Given the description of an element on the screen output the (x, y) to click on. 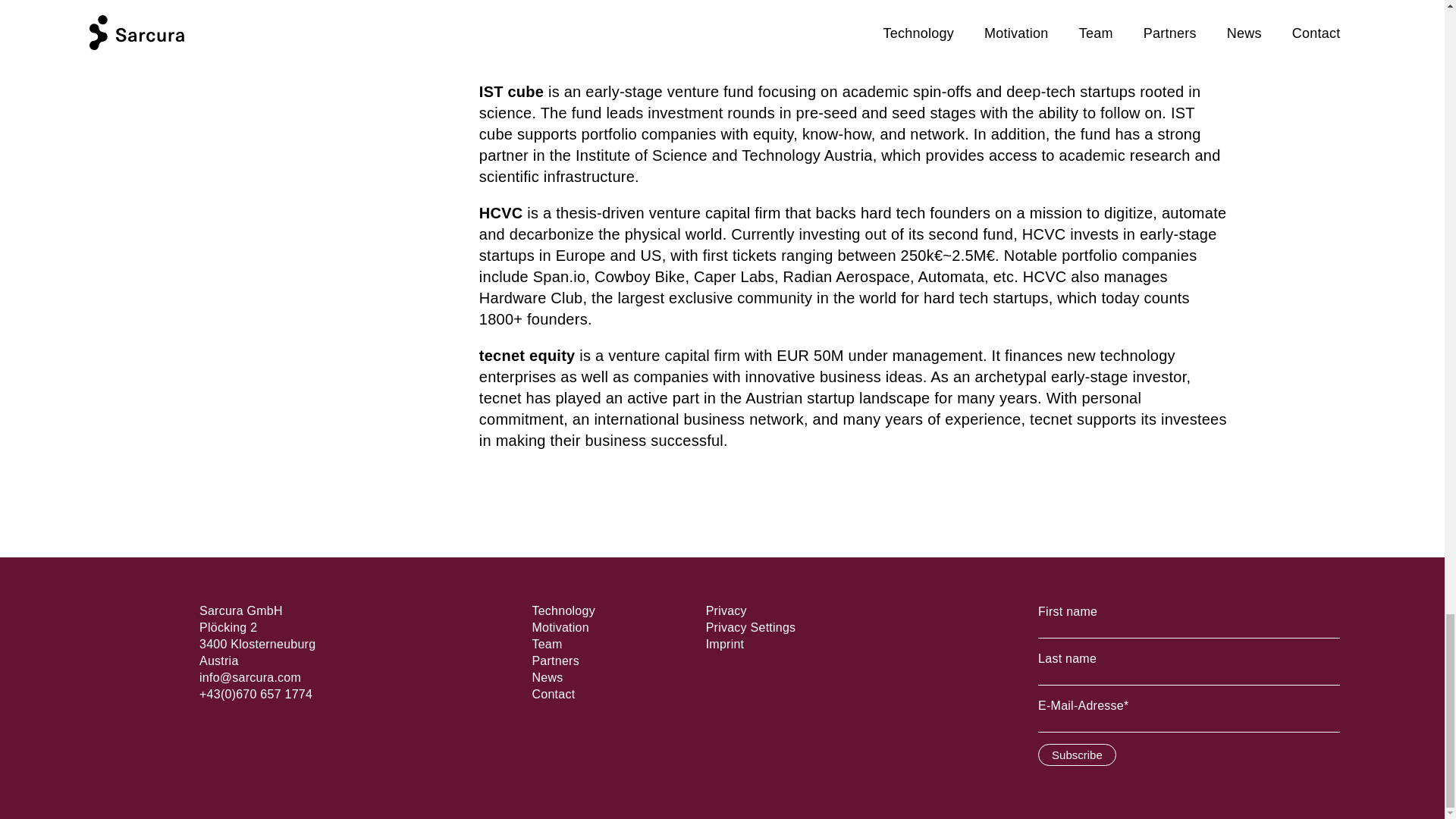
Team (546, 644)
Subscribe (1077, 754)
HCVC (500, 212)
Partners (554, 660)
News (546, 676)
Technology (562, 610)
Motivation (559, 626)
tecnet equity (529, 355)
Subscribe (1077, 754)
Privacy (726, 610)
IST cube (511, 91)
Contact (553, 694)
Privacy Settings (751, 626)
Imprint (725, 644)
